Given the description of an element on the screen output the (x, y) to click on. 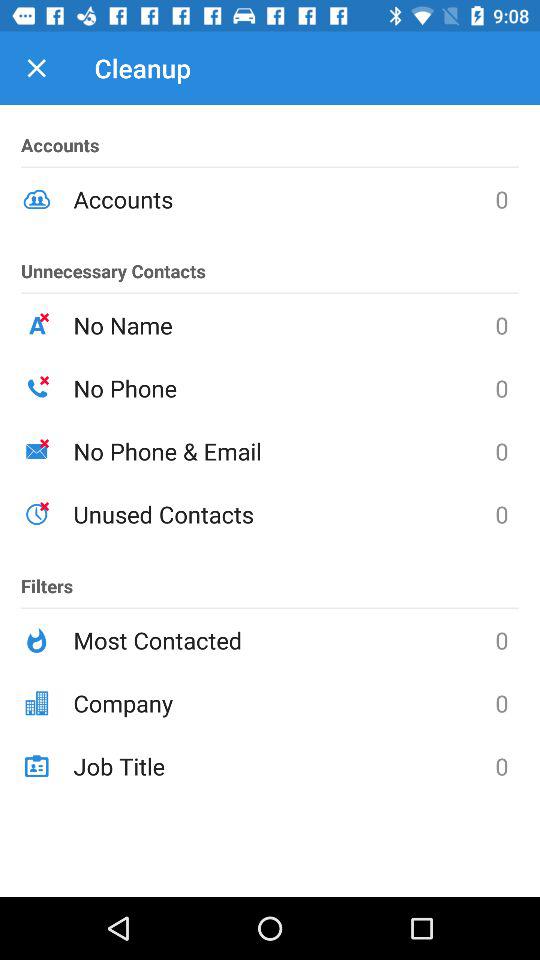
choose unused contacts icon (284, 514)
